Given the description of an element on the screen output the (x, y) to click on. 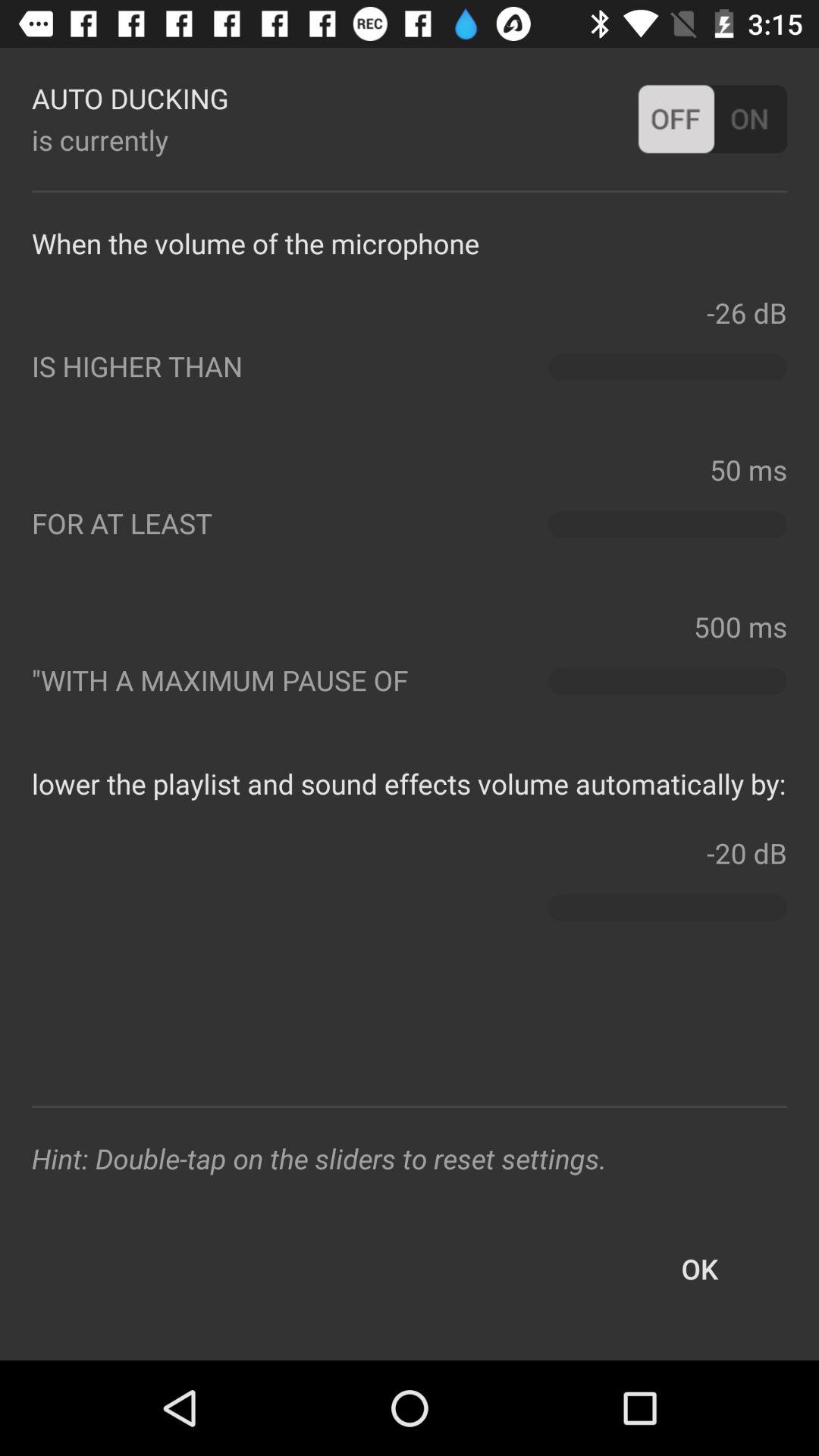
select the ok button at the bottom right corner of the page (699, 1269)
click on offon button at right side of auto ducking (712, 119)
